Given the description of an element on the screen output the (x, y) to click on. 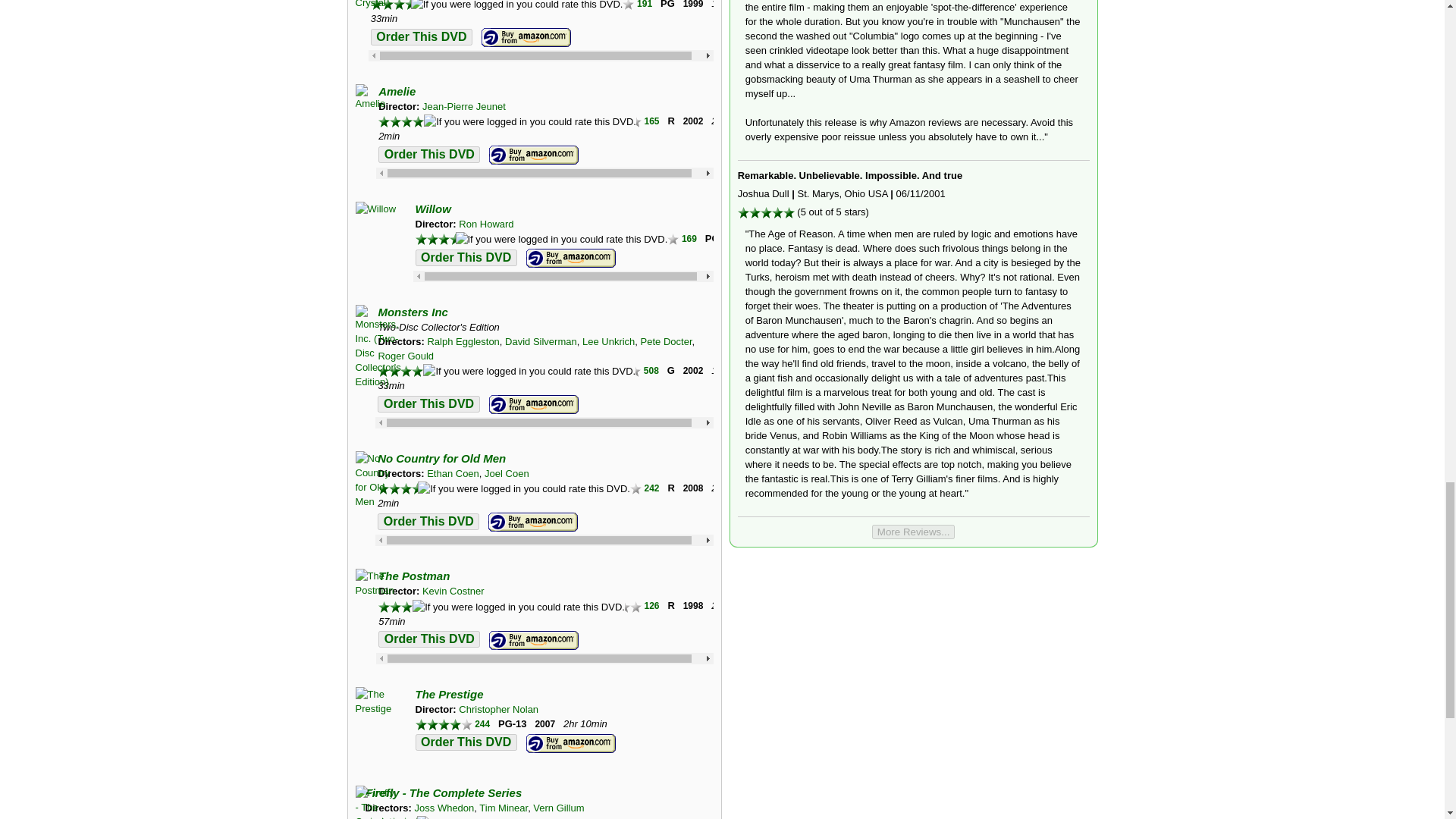
Buy from Amazon (526, 37)
Order This DVD (421, 36)
